Given the description of an element on the screen output the (x, y) to click on. 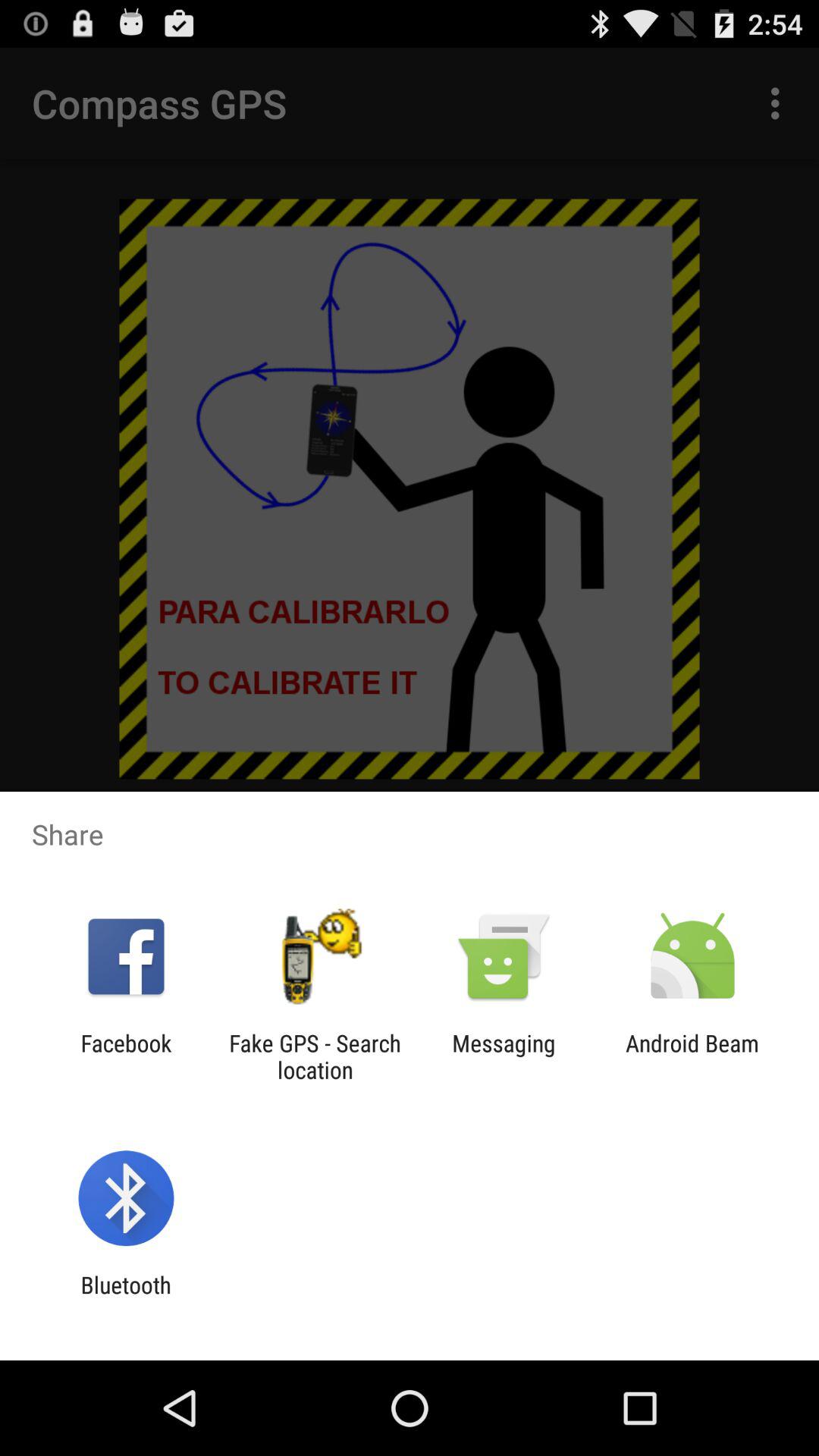
swipe until bluetooth item (125, 1298)
